Given the description of an element on the screen output the (x, y) to click on. 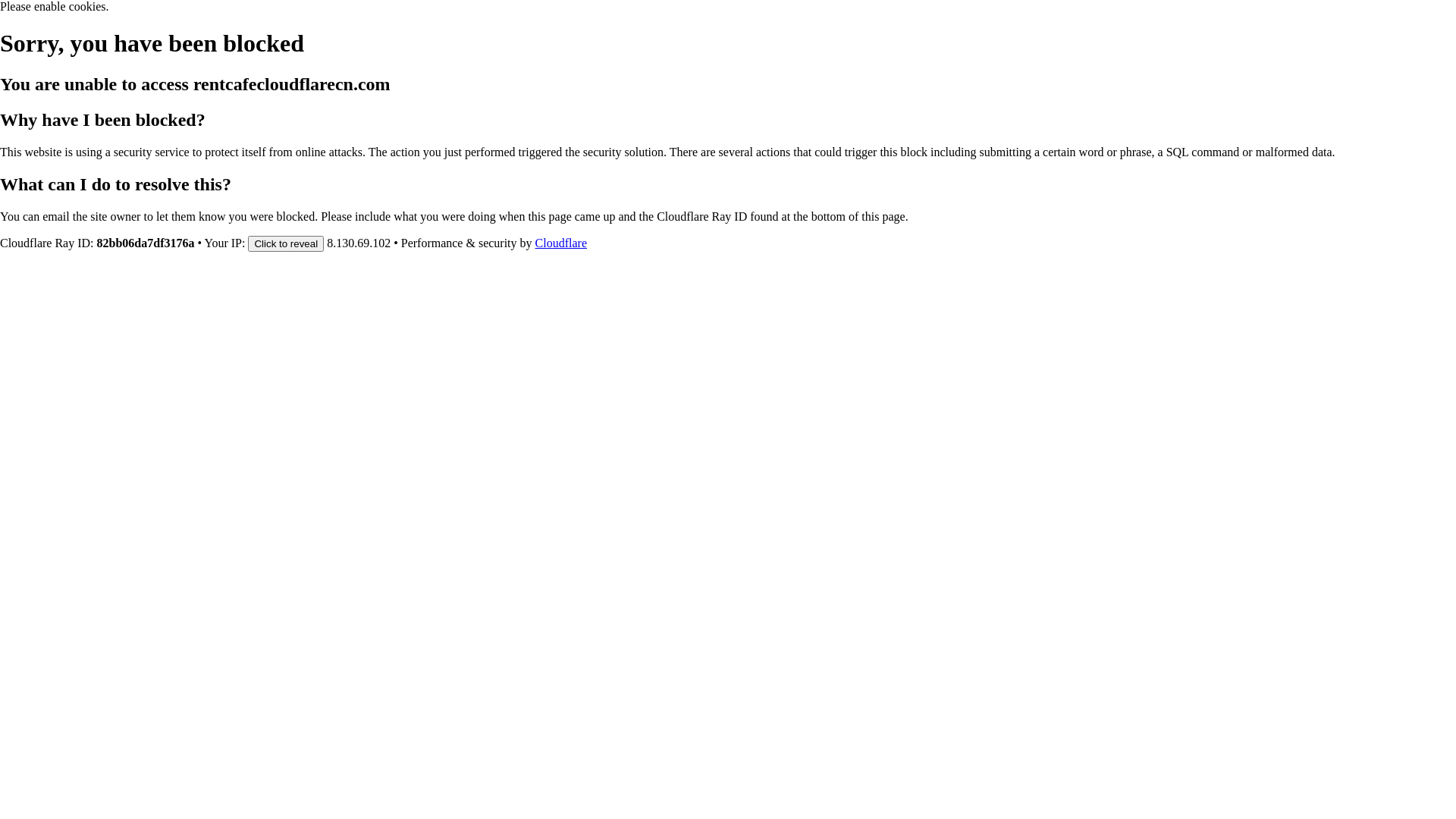
Cloudflare Element type: text (560, 242)
Click to reveal Element type: text (285, 243)
